Given the description of an element on the screen output the (x, y) to click on. 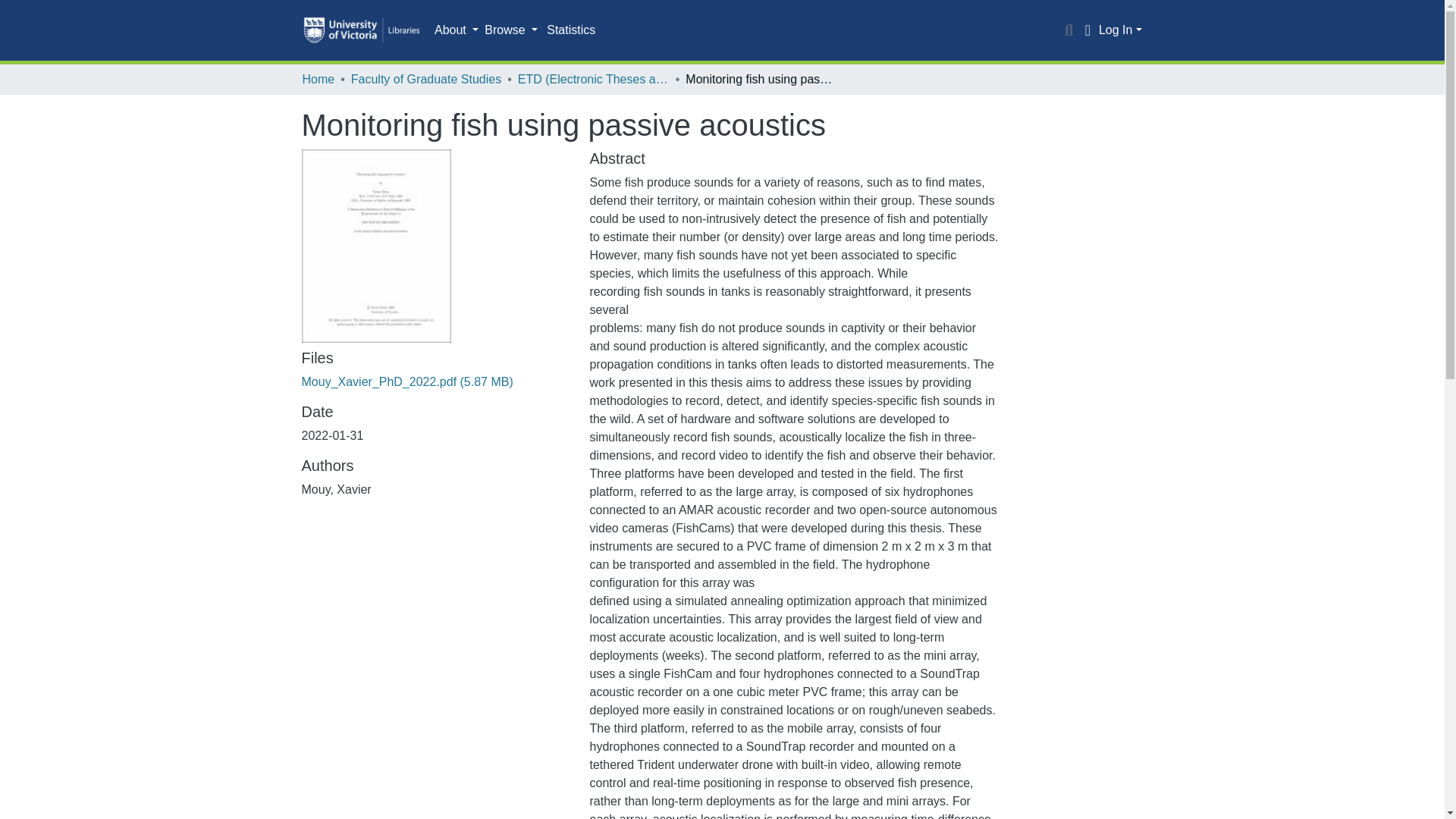
Faculty of Graduate Studies (425, 79)
Home (317, 79)
Language switch (1087, 30)
Search (1068, 30)
Log In (1119, 29)
Statistics (570, 30)
Browse (510, 30)
Statistics (570, 30)
About (455, 30)
